Given the description of an element on the screen output the (x, y) to click on. 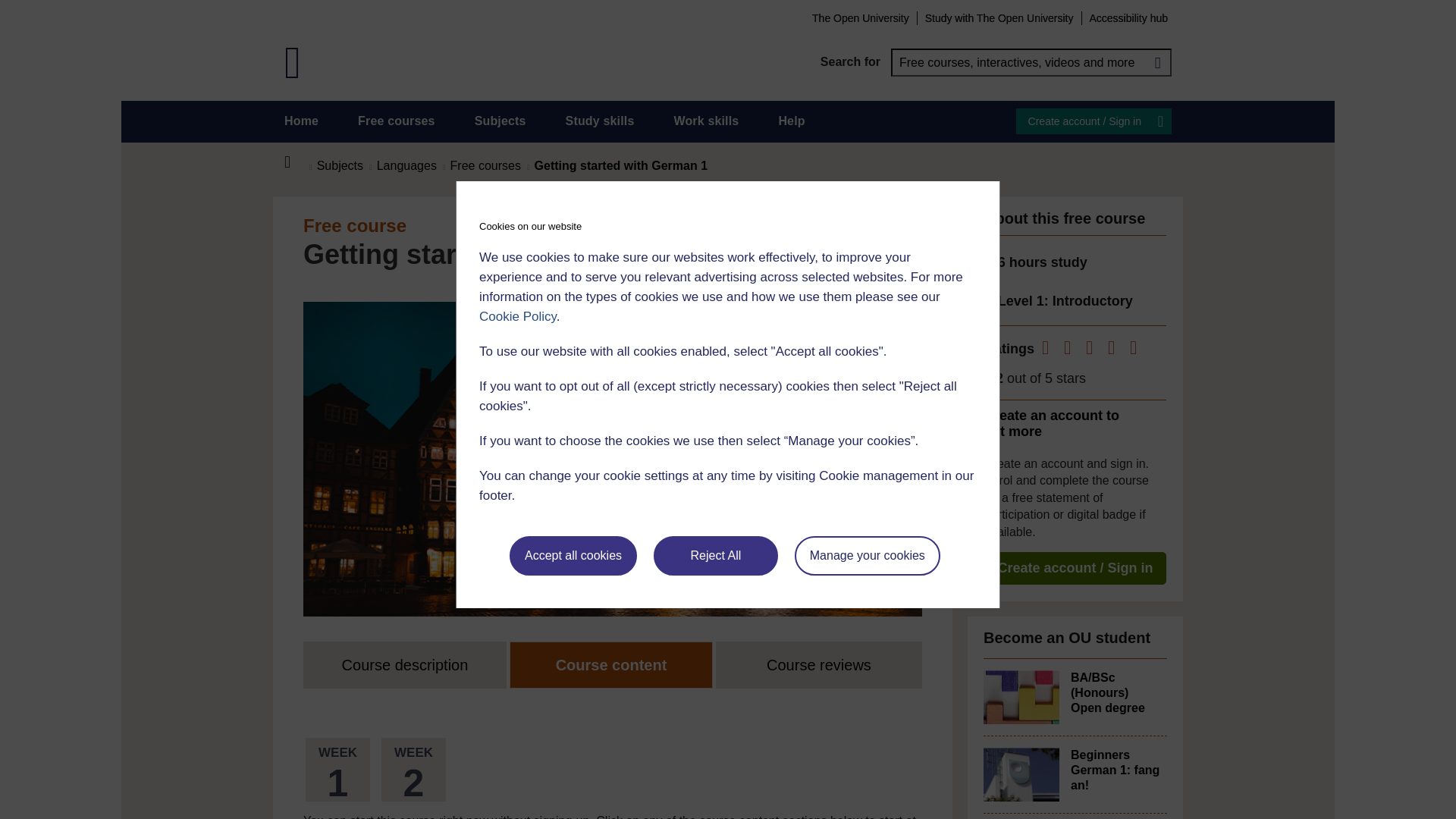
Help (791, 120)
Work skills (705, 120)
Manage your cookies (867, 555)
Cookie Policy (517, 316)
Accessibility hub (1129, 17)
Course reviews (818, 664)
The Open University (860, 17)
Subjects (499, 120)
Home (300, 120)
Study skills (600, 120)
Home (295, 162)
Search (1157, 62)
Accept all cookies (573, 555)
Study with The Open University (999, 17)
Course description (404, 664)
